Given the description of an element on the screen output the (x, y) to click on. 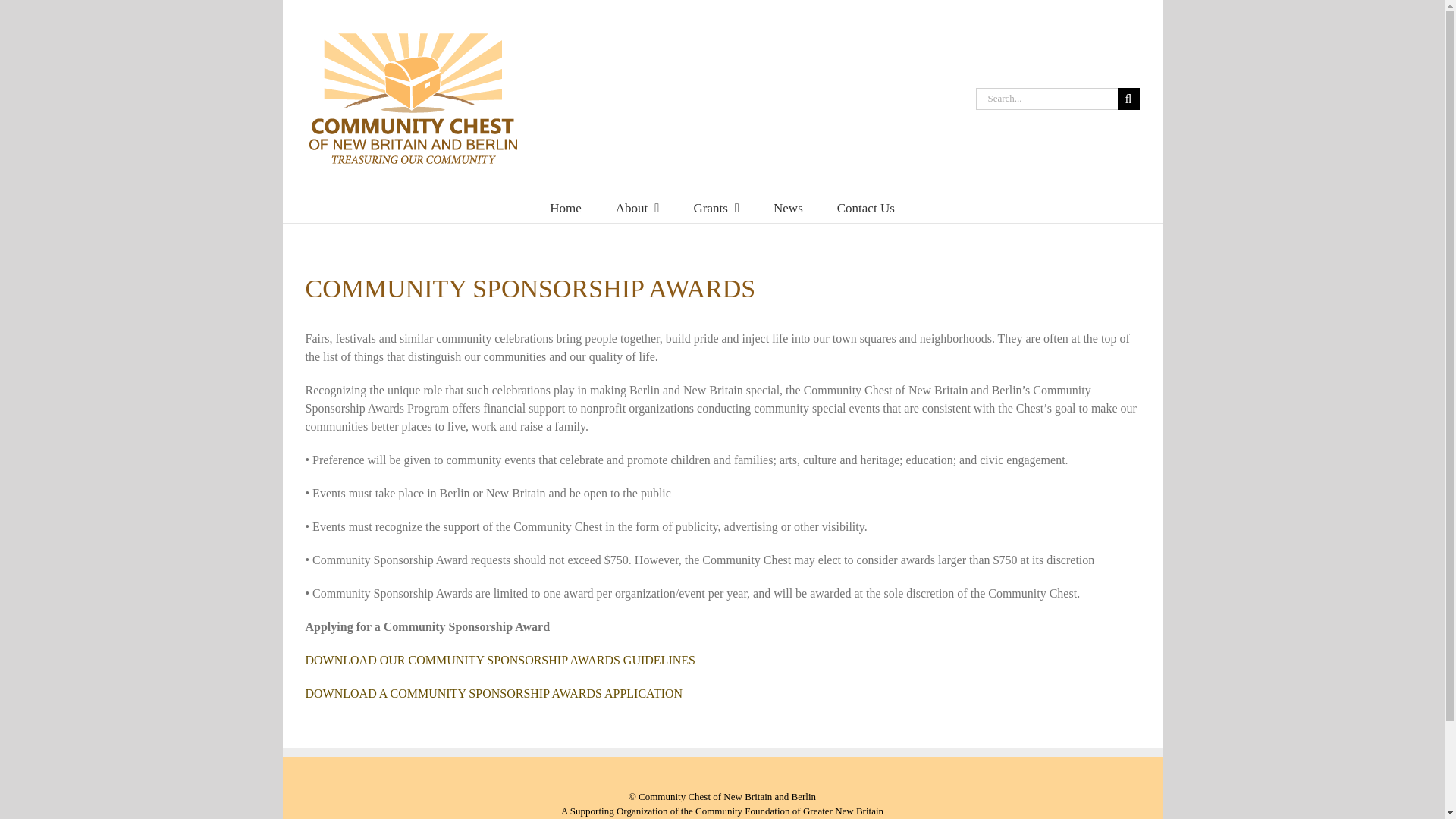
Home (565, 206)
Grants (716, 206)
DOWNLOAD A COMMUNITY SPONSORSHIP AWARDS APPLICATION (493, 693)
Contact Us (866, 206)
DOWNLOAD OUR COMMUNITY SPONSORSHIP AWARDS GUIDELINES (499, 659)
About (637, 206)
News (788, 206)
